Given the description of an element on the screen output the (x, y) to click on. 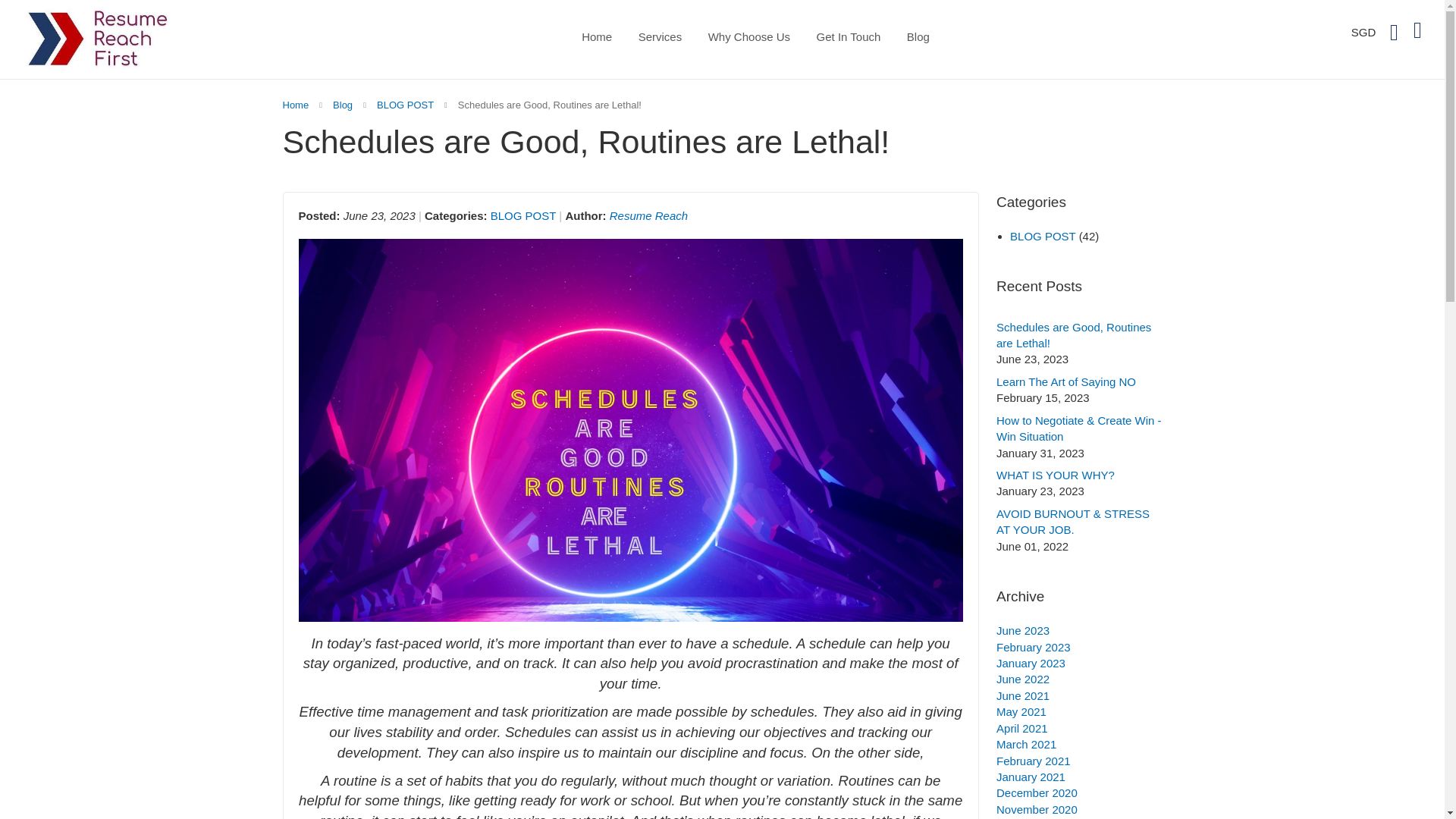
Archive June 2023 (1022, 630)
Get In Touch (848, 36)
Why Choose Us (748, 36)
Go to Home Page (296, 104)
Resume Reach (648, 215)
WHAT IS YOUR WHY? (1055, 474)
Learn The Art of Saying NO  (1065, 381)
Home (296, 104)
Blog (344, 104)
Home (596, 36)
Schedules are Good, Routines are Lethal! (1073, 335)
BLOG POST (406, 104)
Resume Reach First (98, 38)
Services (659, 36)
BLOG POST (406, 104)
